Given the description of an element on the screen output the (x, y) to click on. 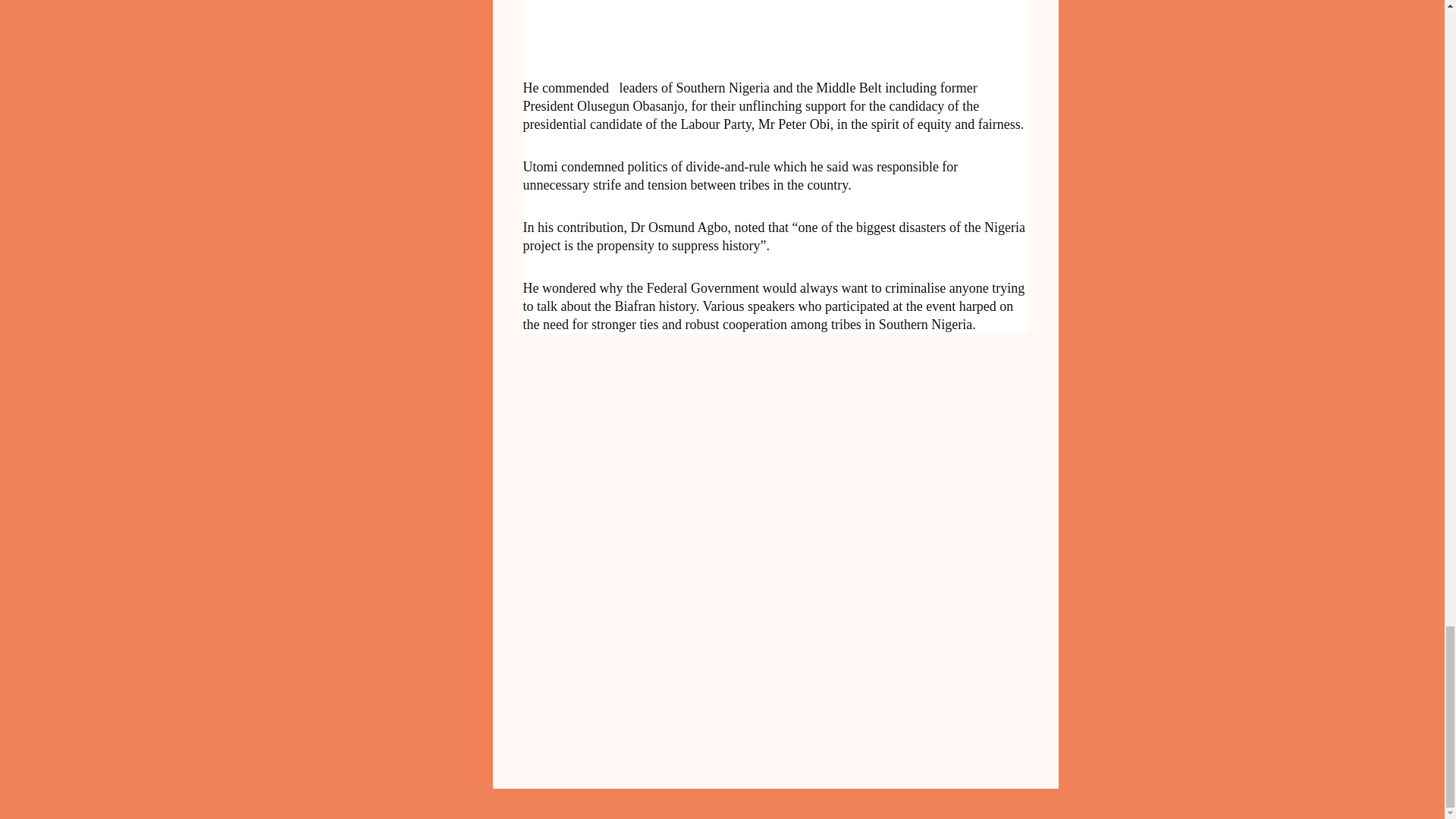
3rd party ad content (666, 24)
